Given the description of an element on the screen output the (x, y) to click on. 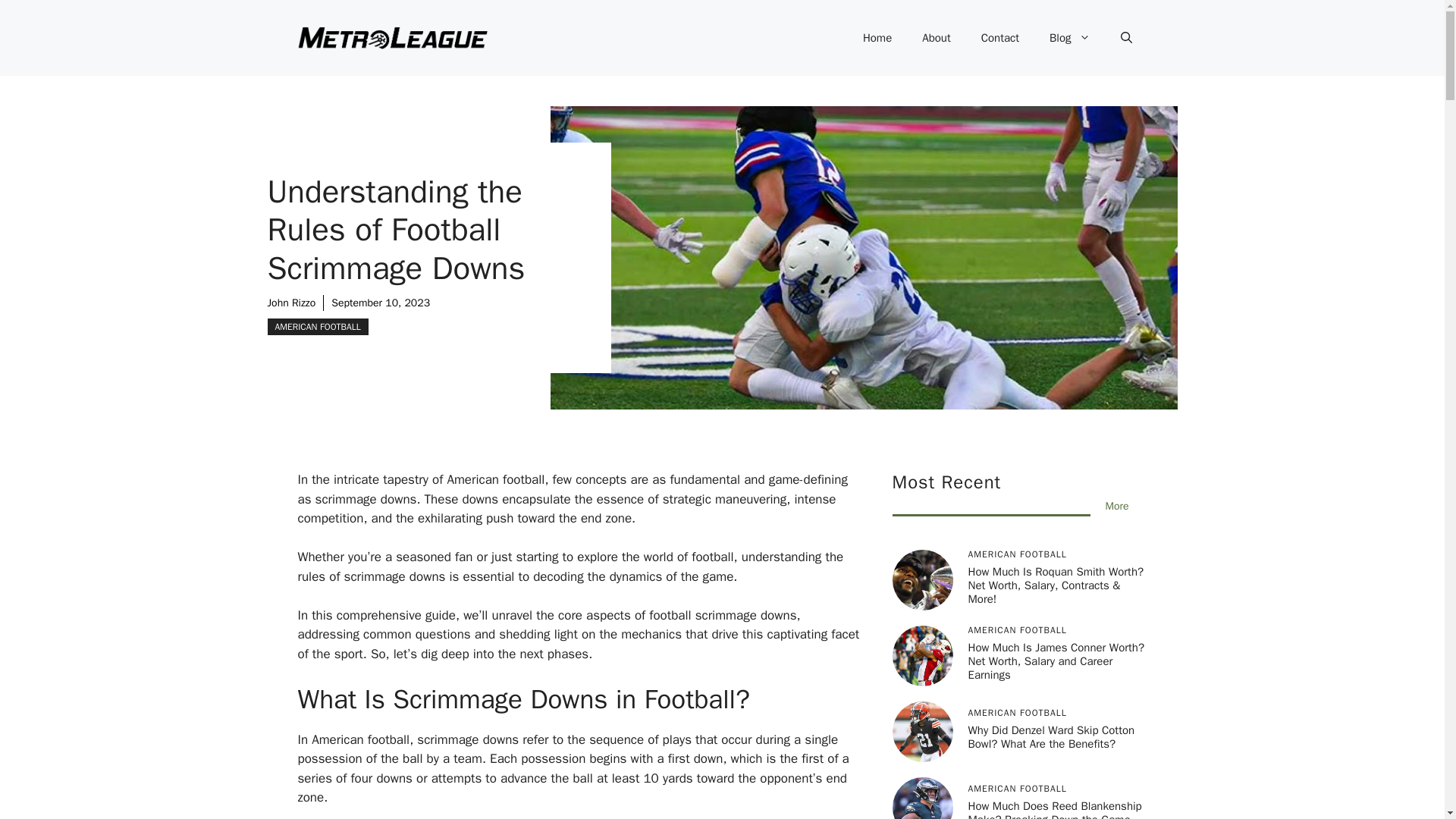
AMERICAN FOOTBALL (317, 326)
Home (877, 37)
Contact (999, 37)
John Rizzo (290, 302)
About (936, 37)
Blog (1069, 37)
More (1117, 505)
